Given the description of an element on the screen output the (x, y) to click on. 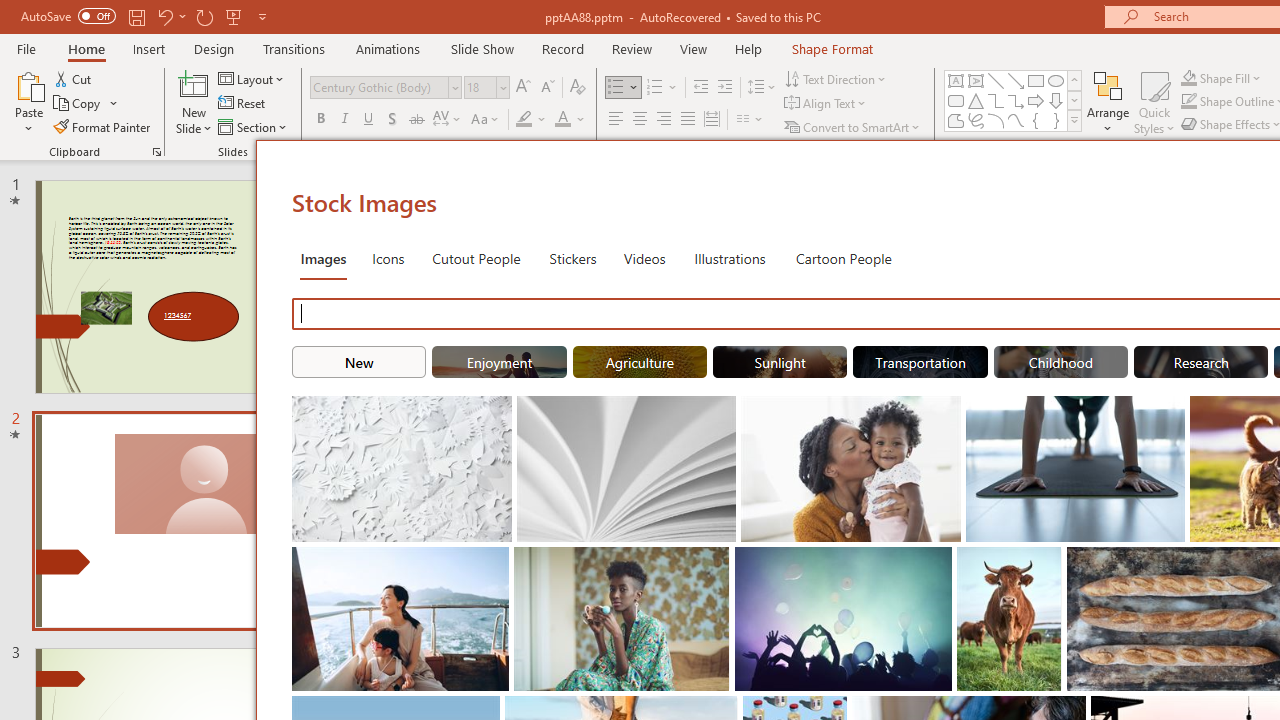
Videos (644, 258)
"Childhood" Stock Images. (1060, 362)
